Given the description of an element on the screen output the (x, y) to click on. 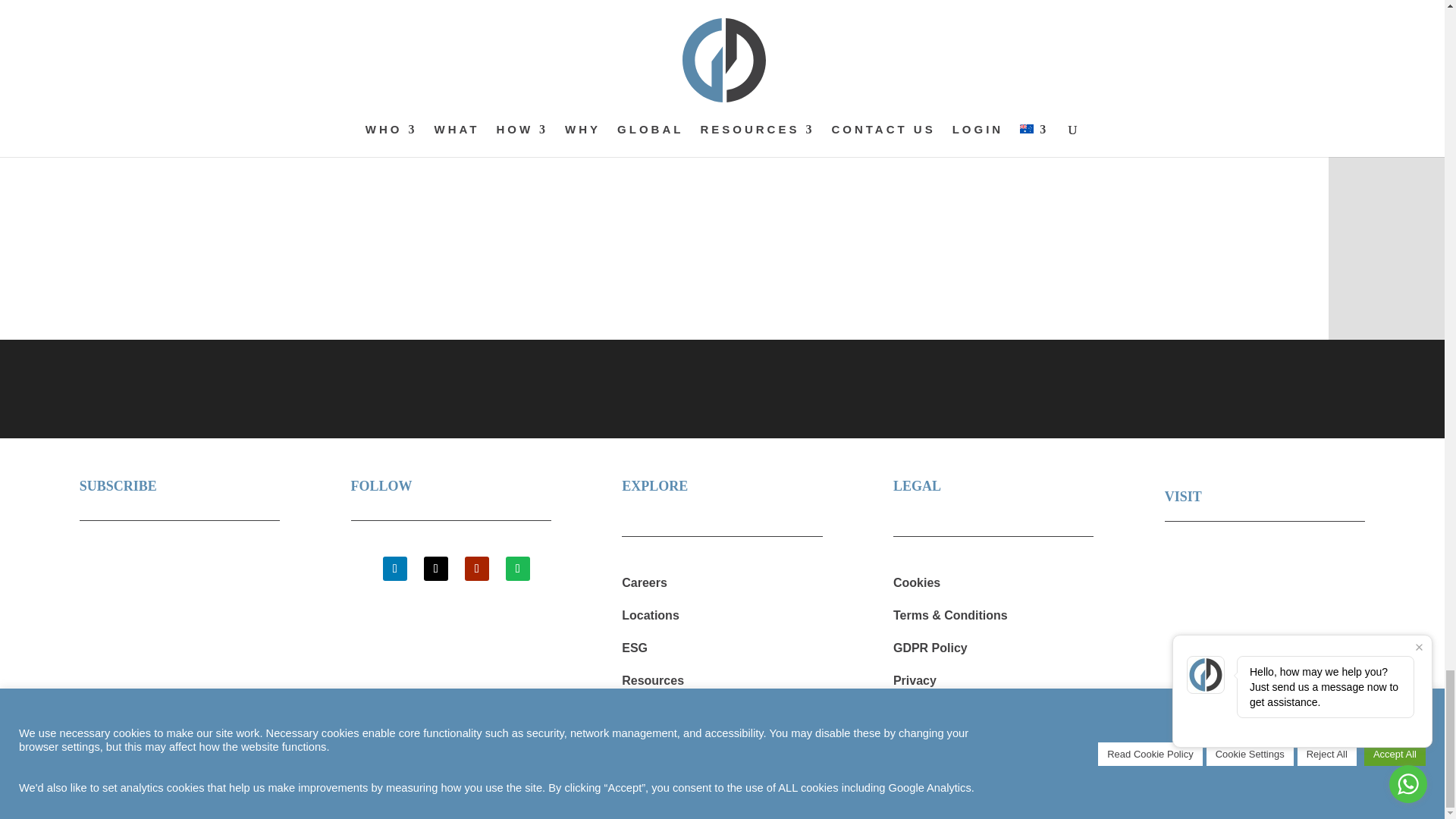
Follow on X (435, 568)
Follow on LinkedIn (394, 568)
Follow on Spotify (517, 568)
Follow on Youtube (476, 568)
